Given the description of an element on the screen output the (x, y) to click on. 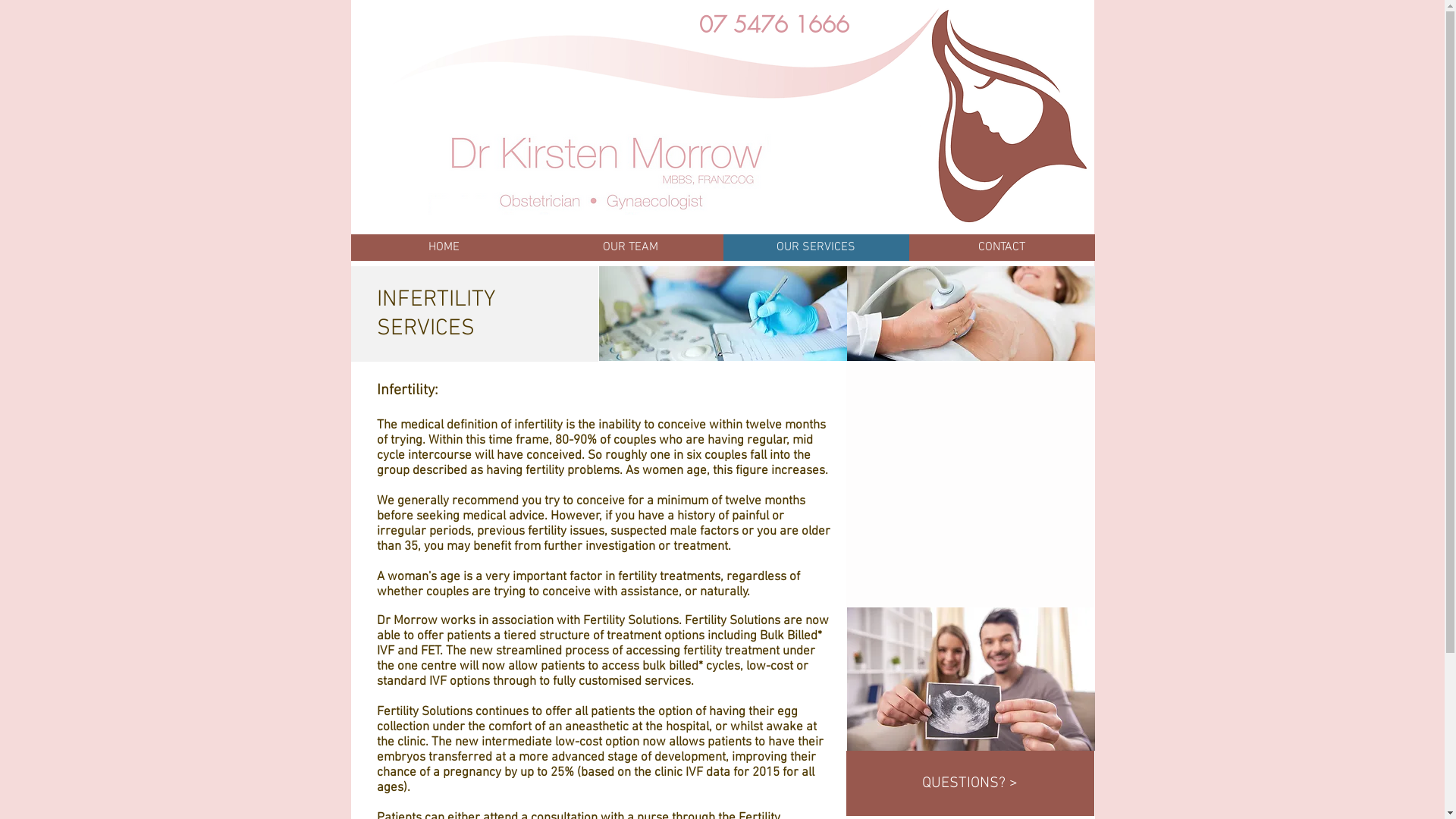
OUR TEAM Element type: text (629, 247)
QUESTIONS? > Element type: text (970, 782)
CONTACT Element type: text (1001, 247)
HOME Element type: text (443, 247)
infertility-services-sunshine-coast.jpg Element type: hover (970, 678)
OUR SERVICES Element type: text (816, 247)
